Given the description of an element on the screen output the (x, y) to click on. 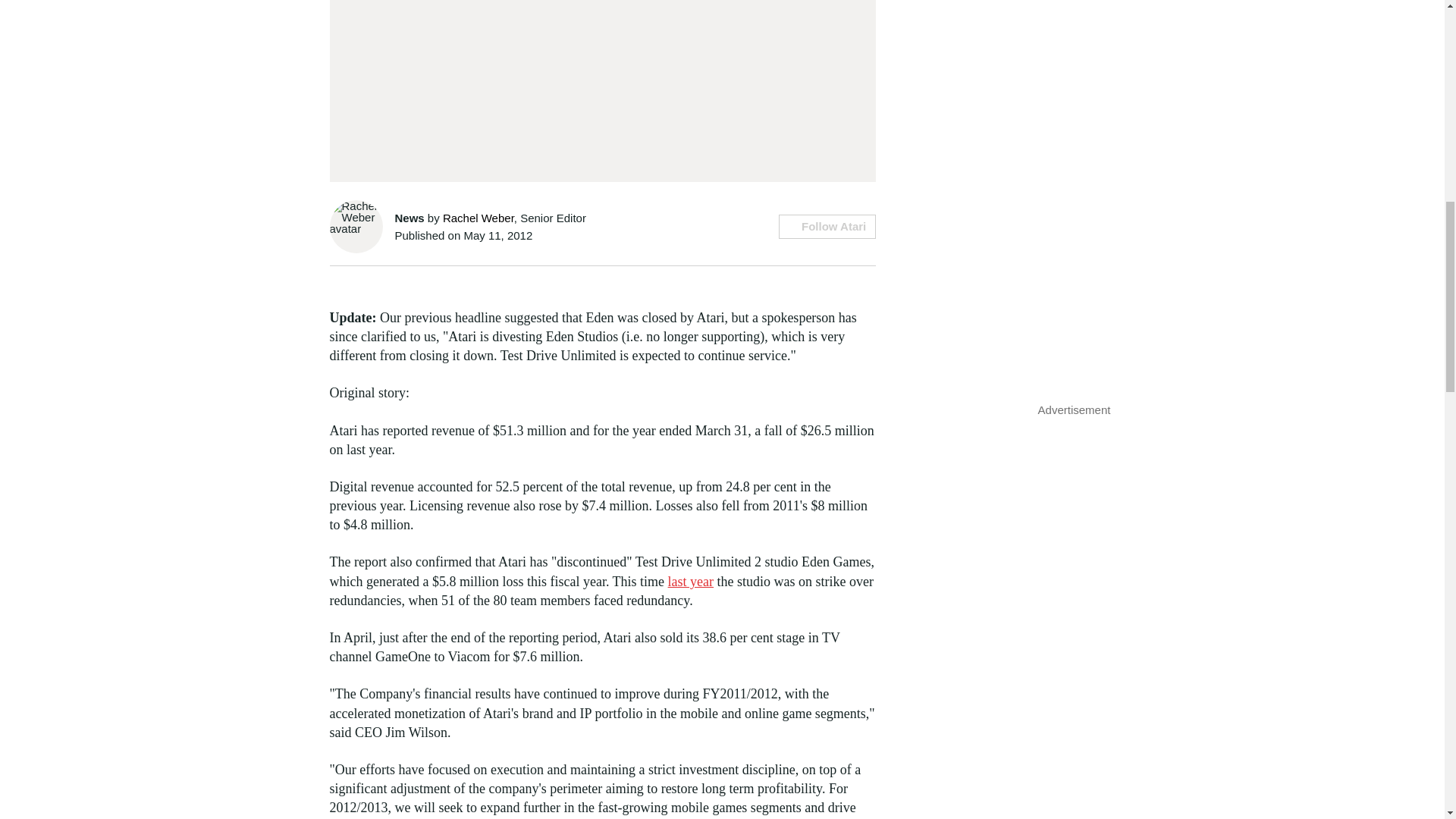
Follow Atari (827, 226)
Follow Atari (827, 226)
last year (690, 581)
Rachel Weber (477, 217)
